Given the description of an element on the screen output the (x, y) to click on. 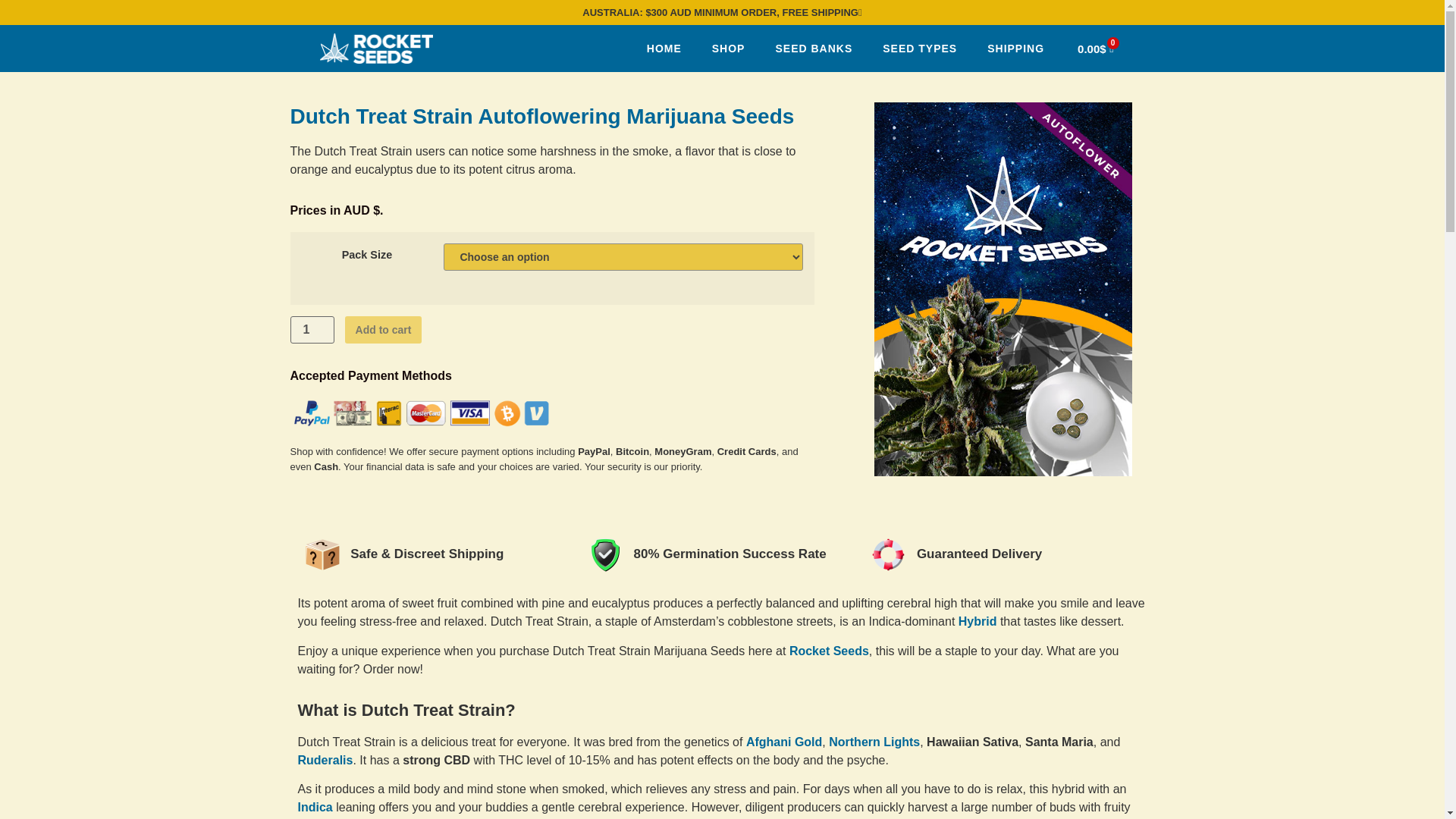
SEED BANKS (813, 48)
SHIPPING (1015, 48)
HOME (664, 48)
SEED TYPES (919, 48)
SHOP (728, 48)
1 (311, 329)
